Given the description of an element on the screen output the (x, y) to click on. 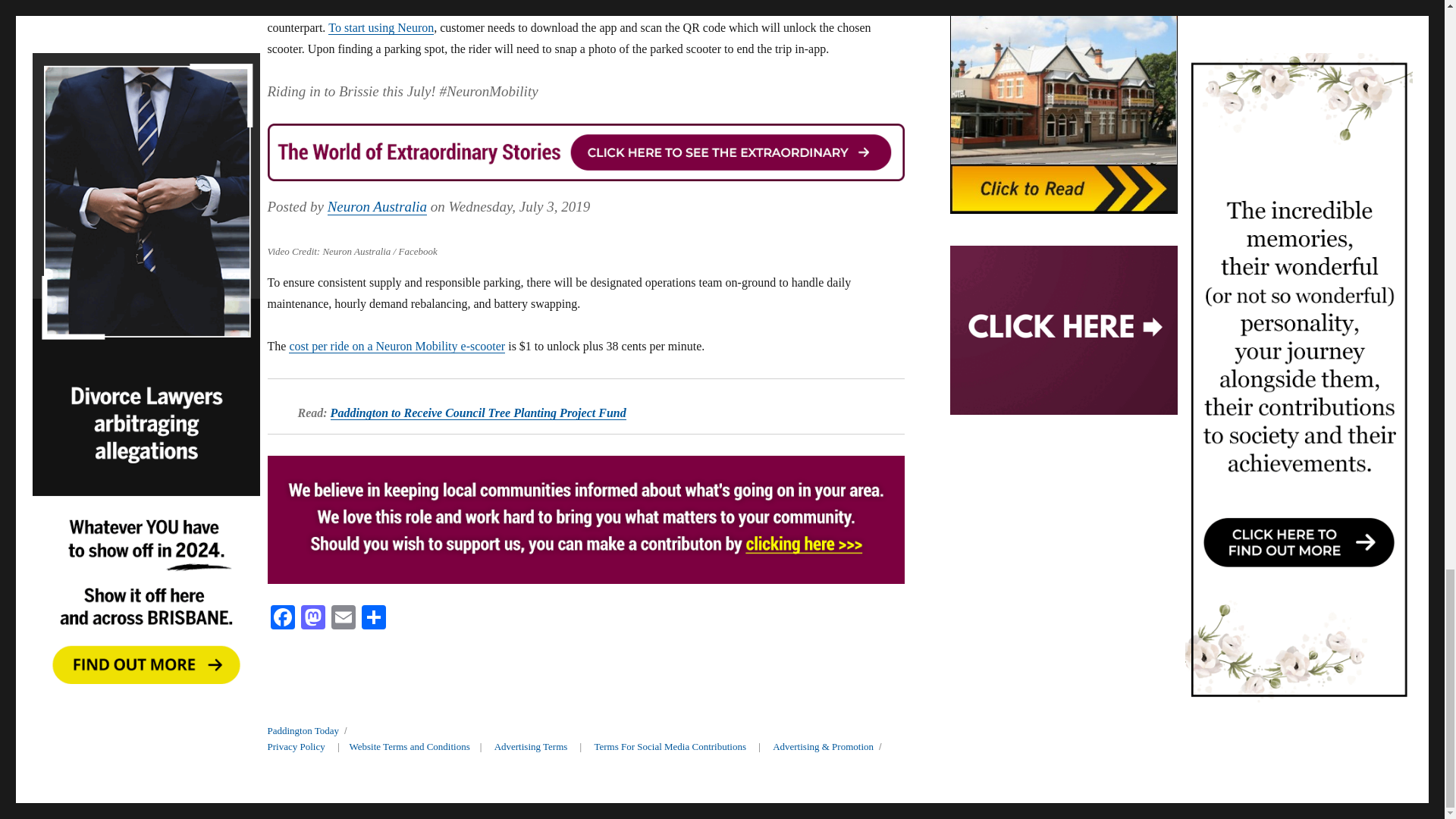
Mastodon (312, 619)
Mastodon (312, 619)
Facebook (281, 619)
Email (342, 619)
To start using Neuron (381, 27)
cost per ride on a Neuron Mobility e-scooter (396, 345)
Email (342, 619)
Facebook (281, 619)
Neuron Australia (376, 206)
Paddington to Receive Council Tree Planting Project Fund (478, 412)
Share (373, 619)
